Given the description of an element on the screen output the (x, y) to click on. 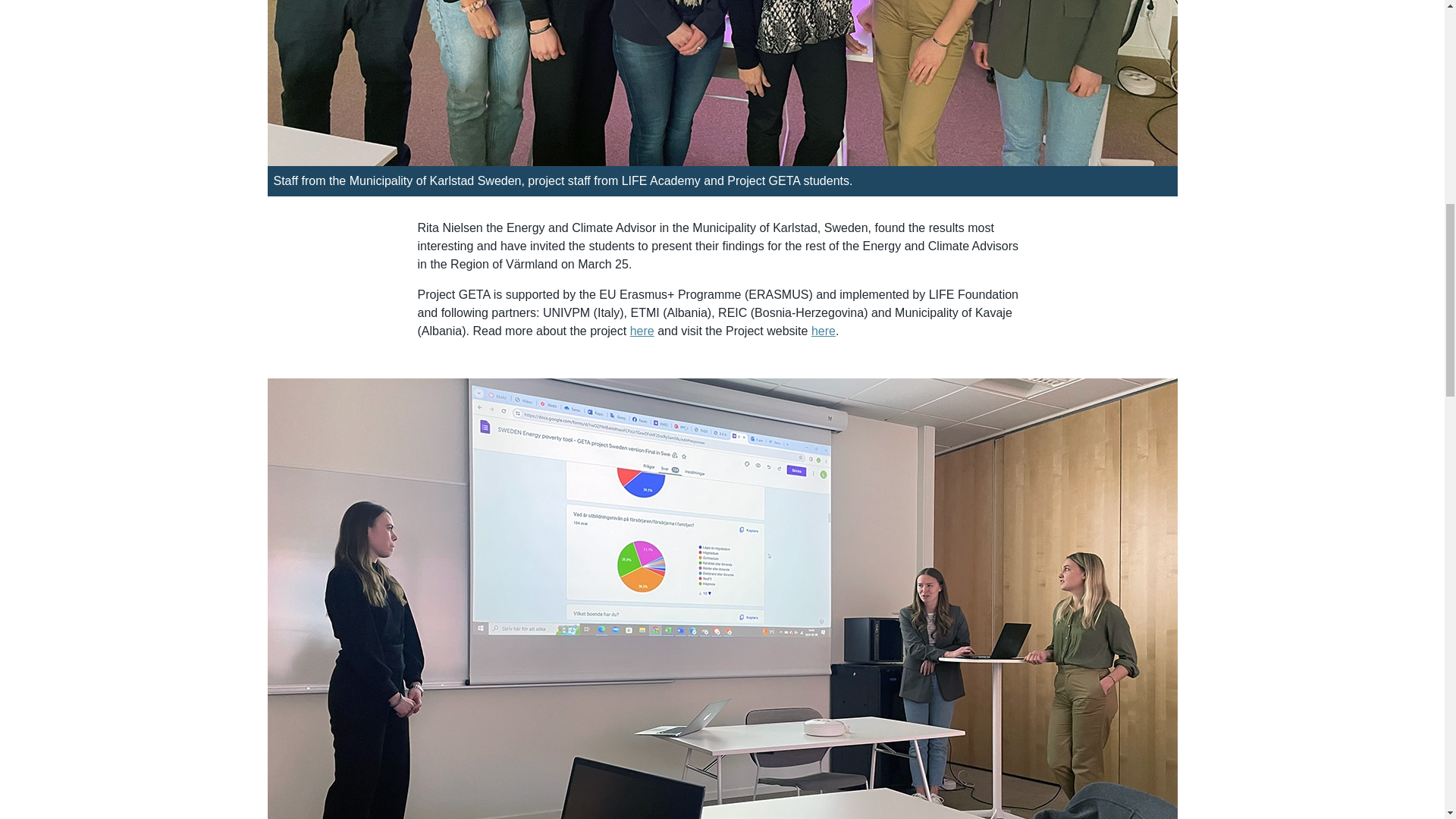
here (822, 330)
here (641, 330)
